Given the description of an element on the screen output the (x, y) to click on. 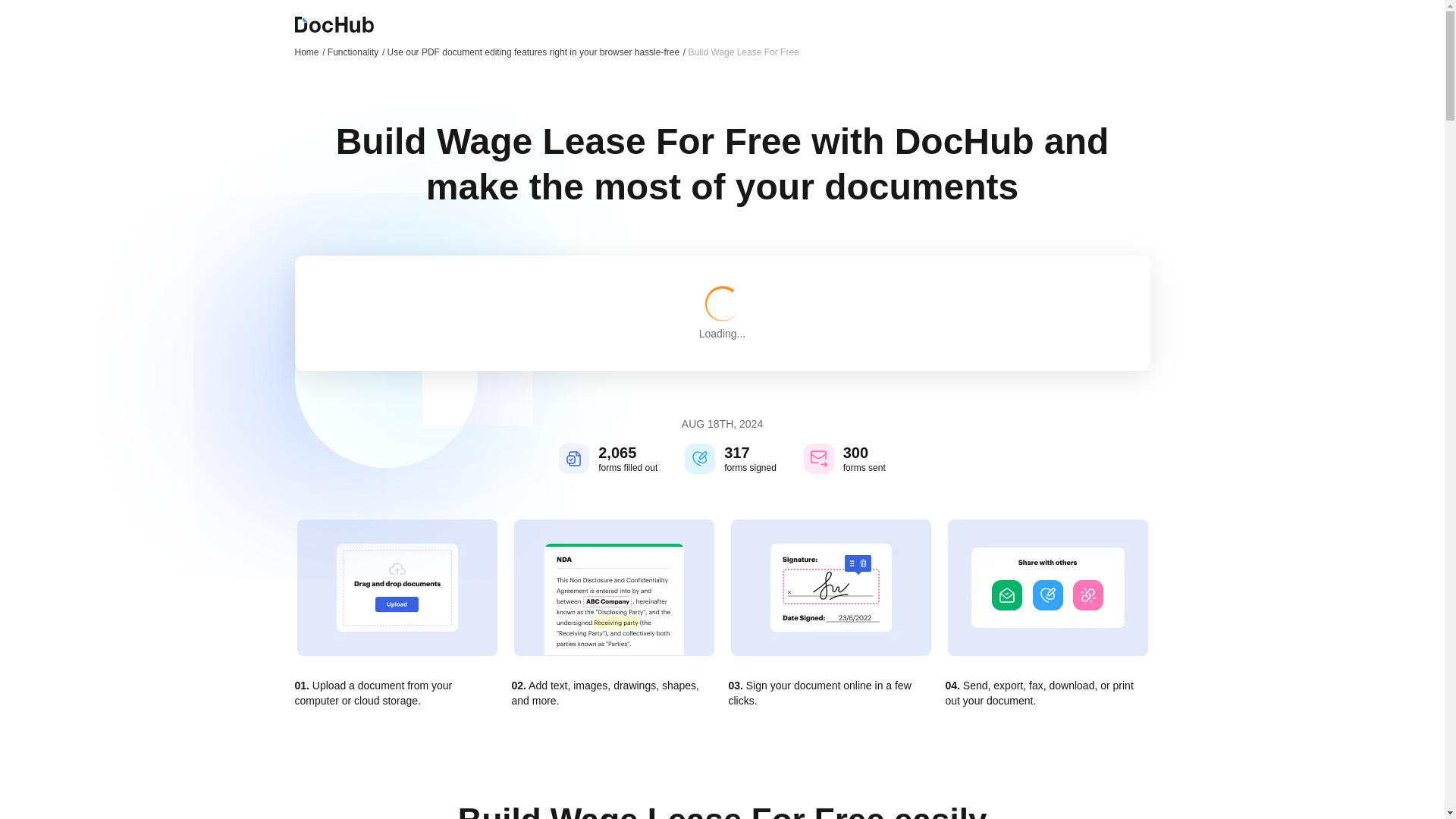
Home (309, 51)
Functionality (355, 51)
